Given the description of an element on the screen output the (x, y) to click on. 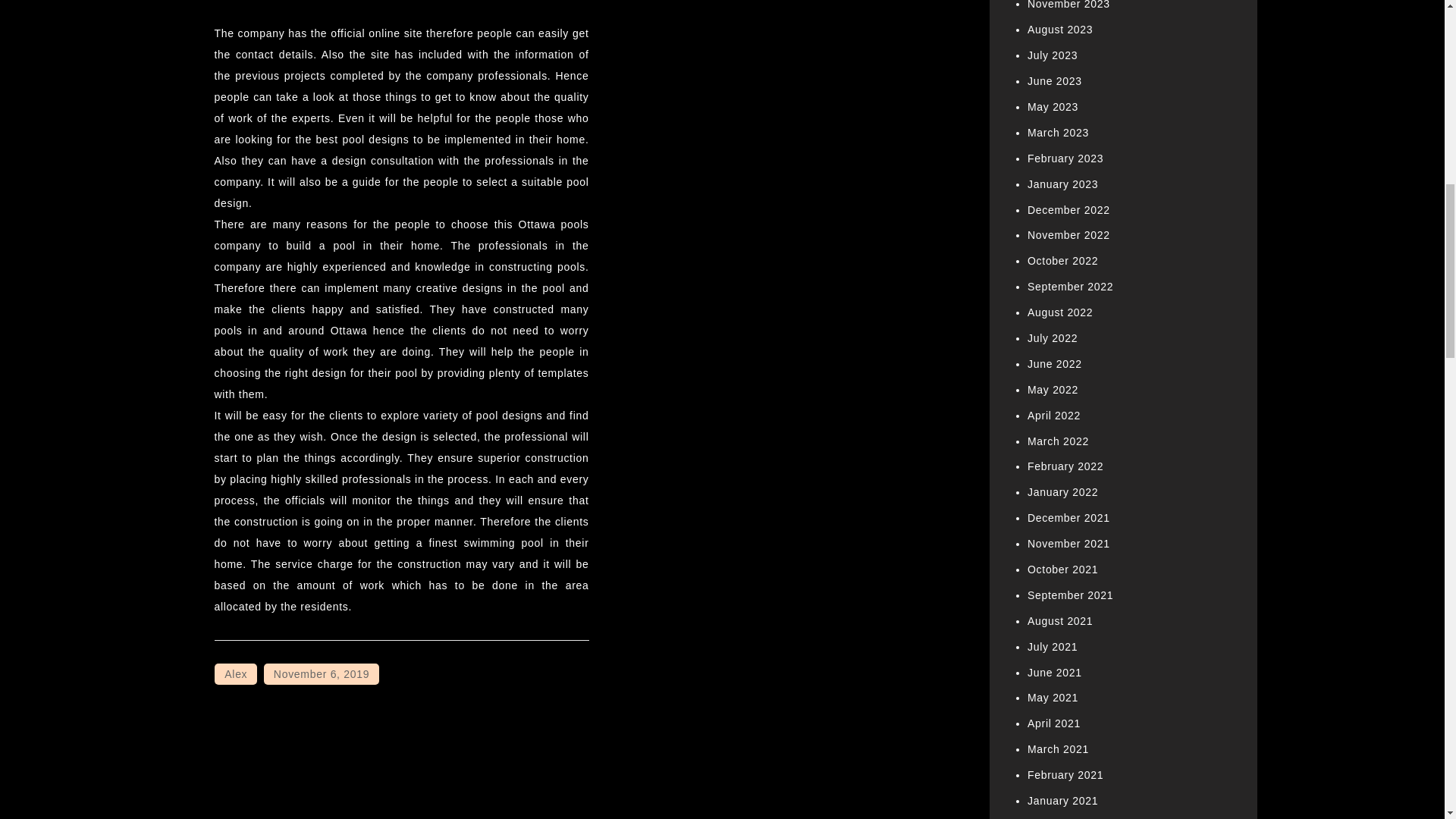
June 2022 (1054, 363)
September 2022 (1070, 286)
July 2023 (1052, 55)
June 2023 (1054, 80)
May 2022 (1052, 389)
January 2023 (1062, 184)
November 6, 2019 (320, 673)
March 2023 (1058, 132)
Alex (235, 673)
November 2022 (1068, 234)
December 2022 (1068, 209)
October 2022 (1062, 260)
August 2023 (1060, 29)
July 2022 (1052, 337)
August 2022 (1060, 312)
